Given the description of an element on the screen output the (x, y) to click on. 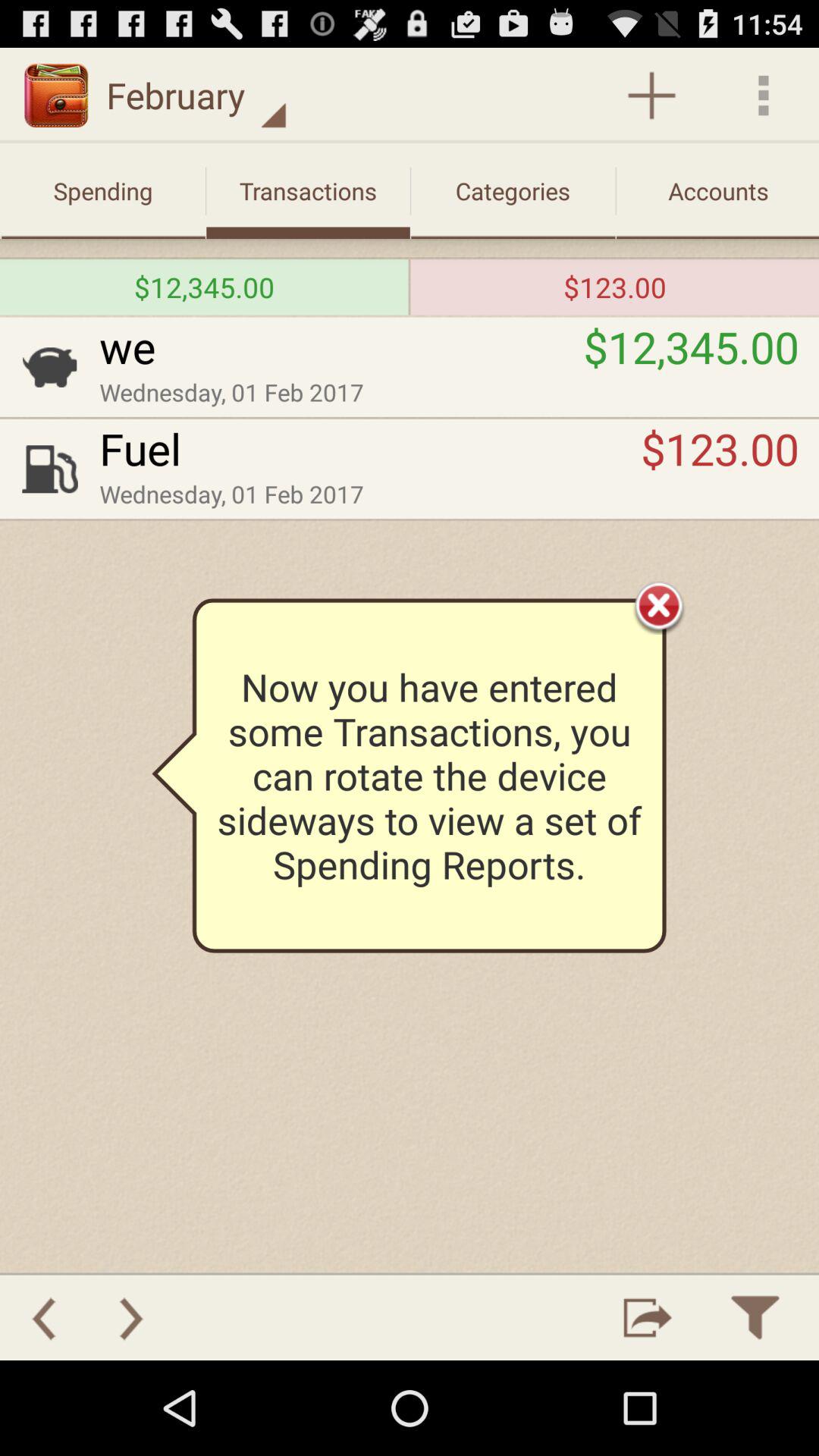
go to next (131, 1317)
